Given the description of an element on the screen output the (x, y) to click on. 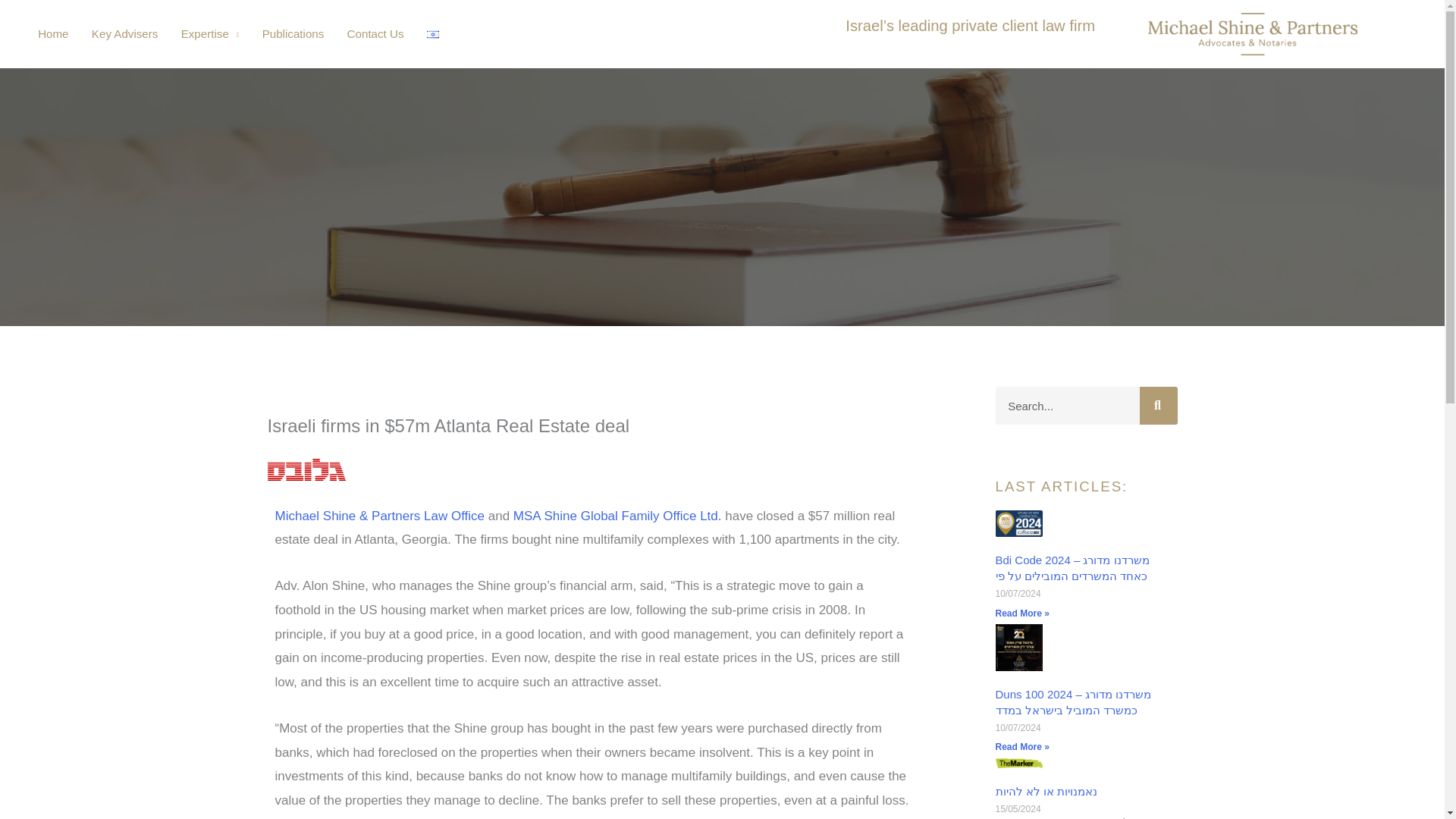
Home (53, 34)
Publications (292, 34)
Key Advisers (125, 34)
Contact Us (374, 34)
Expertise (210, 34)
